Given the description of an element on the screen output the (x, y) to click on. 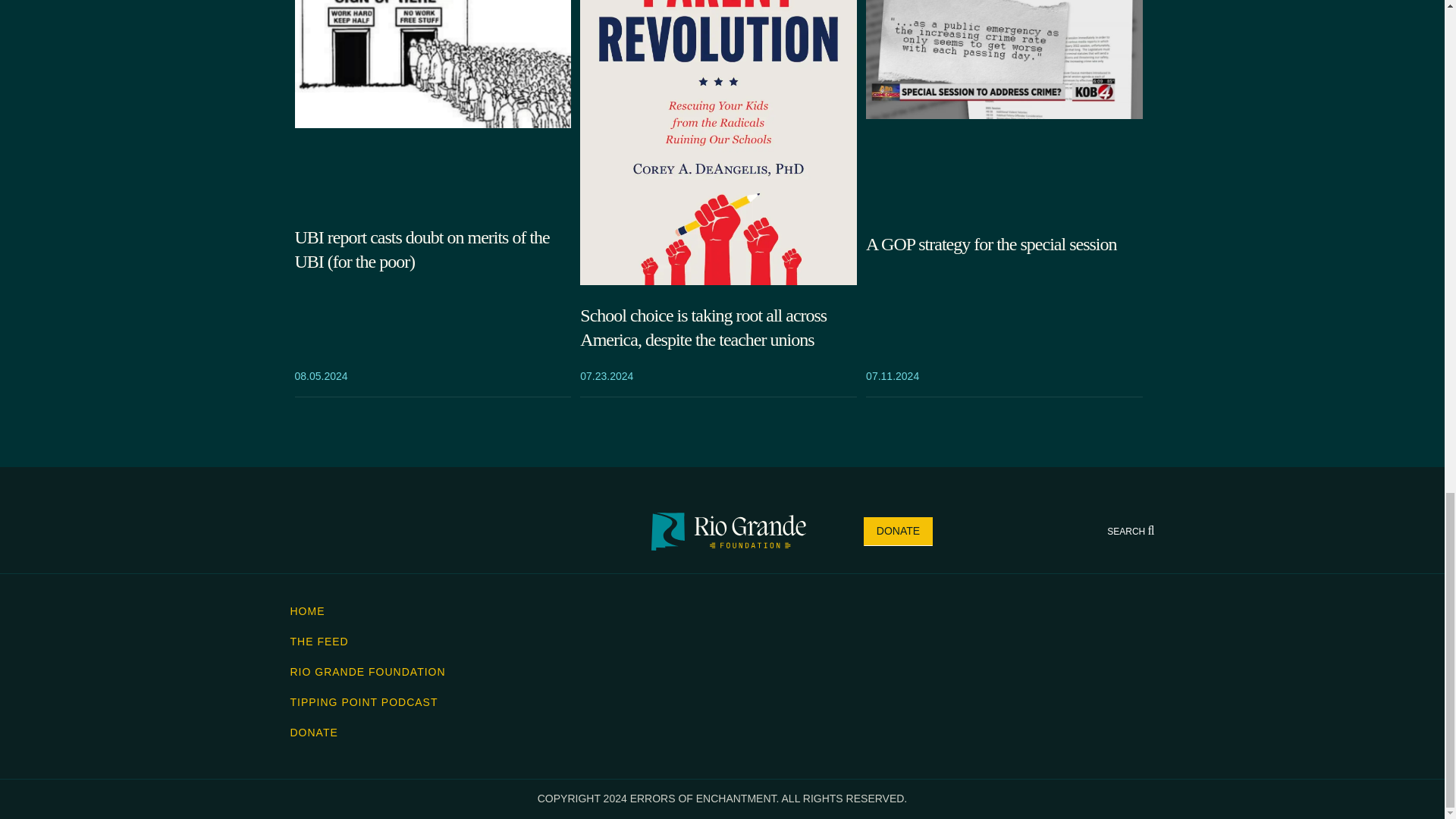
SEARCH (1130, 531)
A GOP strategy for the special session (1004, 243)
RIO GRANDE FOUNDATION (367, 671)
THE FEED (318, 641)
DONATE (898, 531)
DONATE (313, 732)
TIPPING POINT PODCAST (363, 702)
HOME (306, 611)
